Given the description of an element on the screen output the (x, y) to click on. 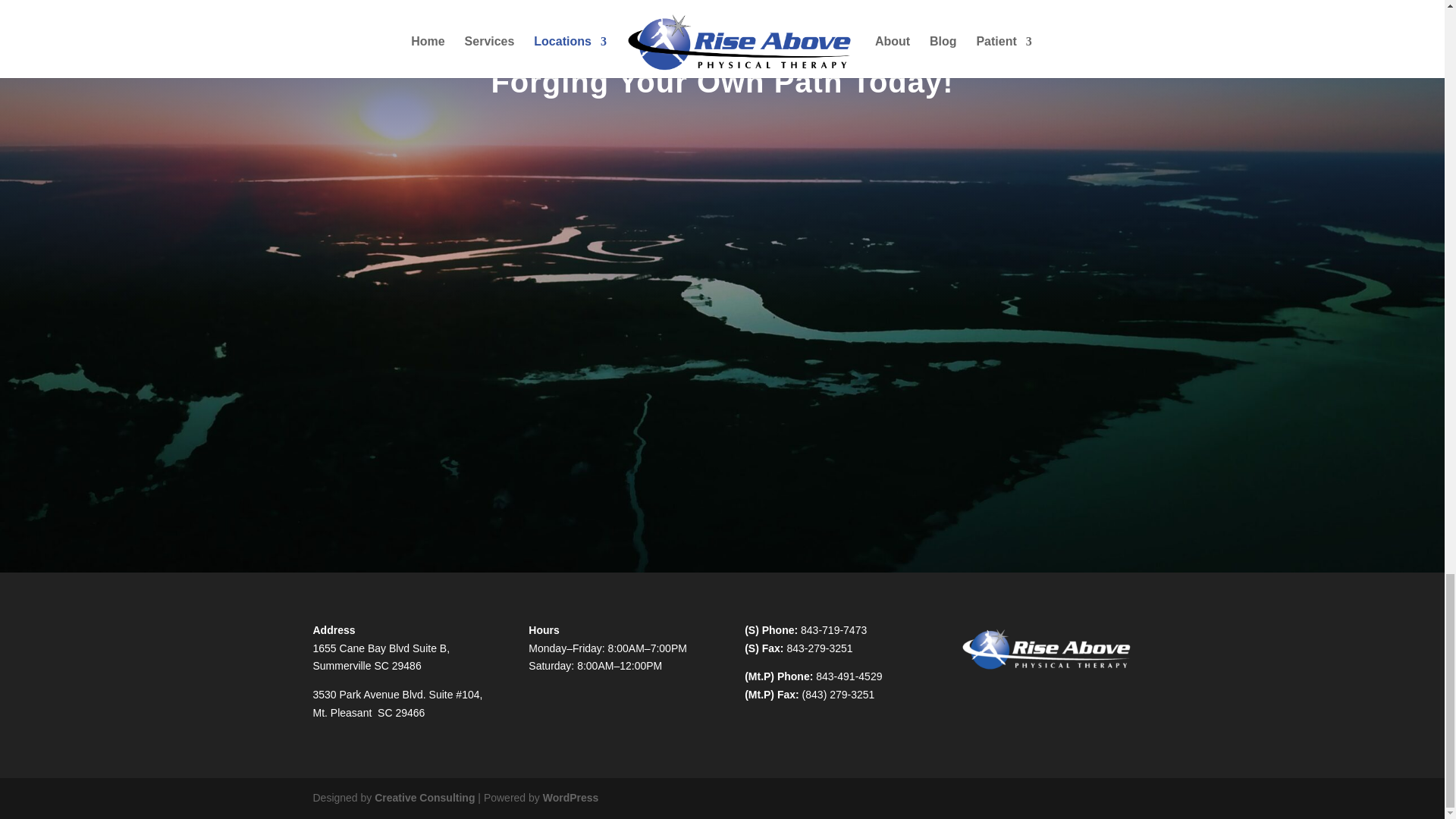
843-491-4529 (848, 676)
Creative Consulting (424, 797)
843-719-7473 (833, 630)
